Given the description of an element on the screen output the (x, y) to click on. 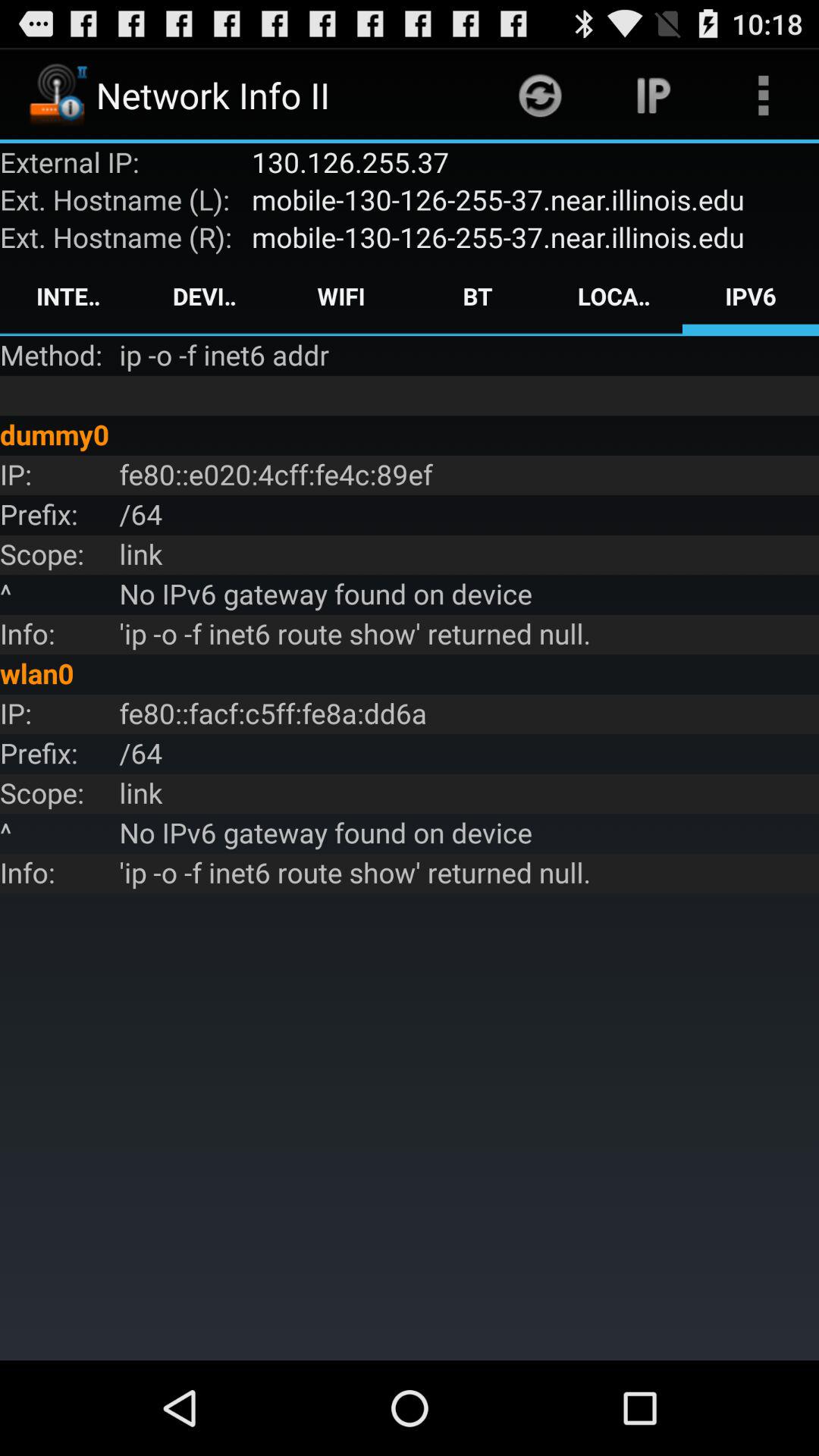
turn on item next to wifi (477, 295)
